Given the description of an element on the screen output the (x, y) to click on. 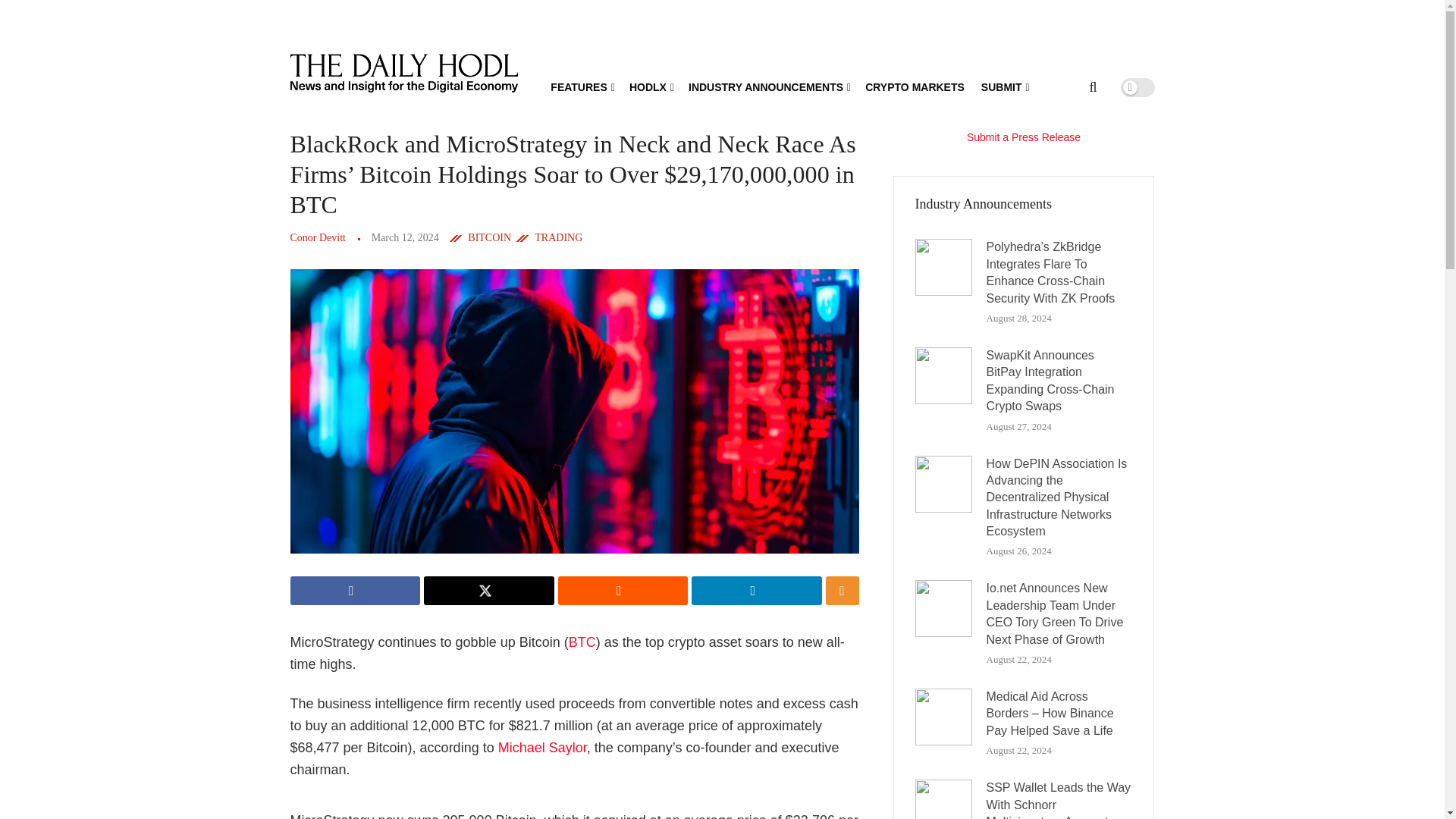
HODLX (649, 86)
FEATURES (581, 86)
CRYPTO MARKETS (913, 86)
SUBMIT (1004, 86)
INDUSTRY ANNOUNCEMENTS (768, 86)
